Given the description of an element on the screen output the (x, y) to click on. 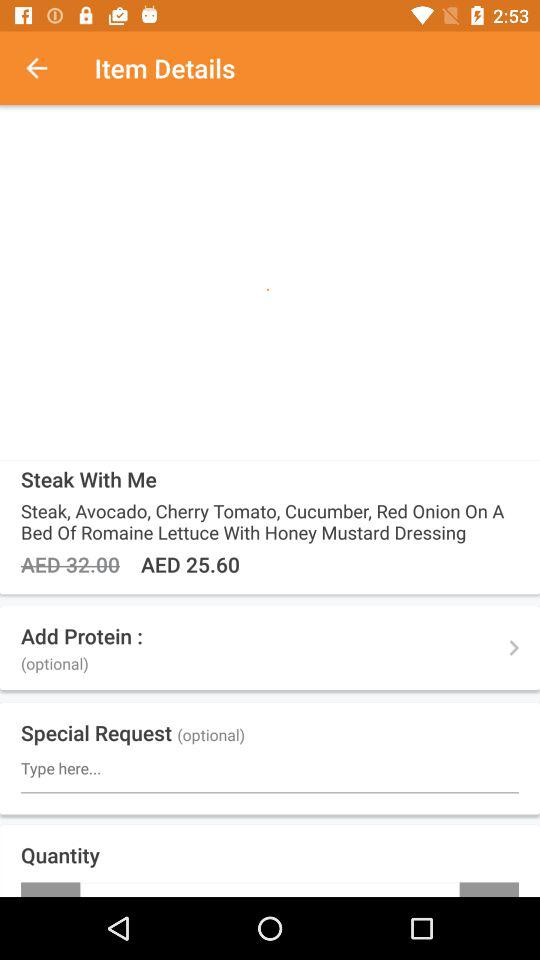
choose icon to the right of - item (489, 889)
